Given the description of an element on the screen output the (x, y) to click on. 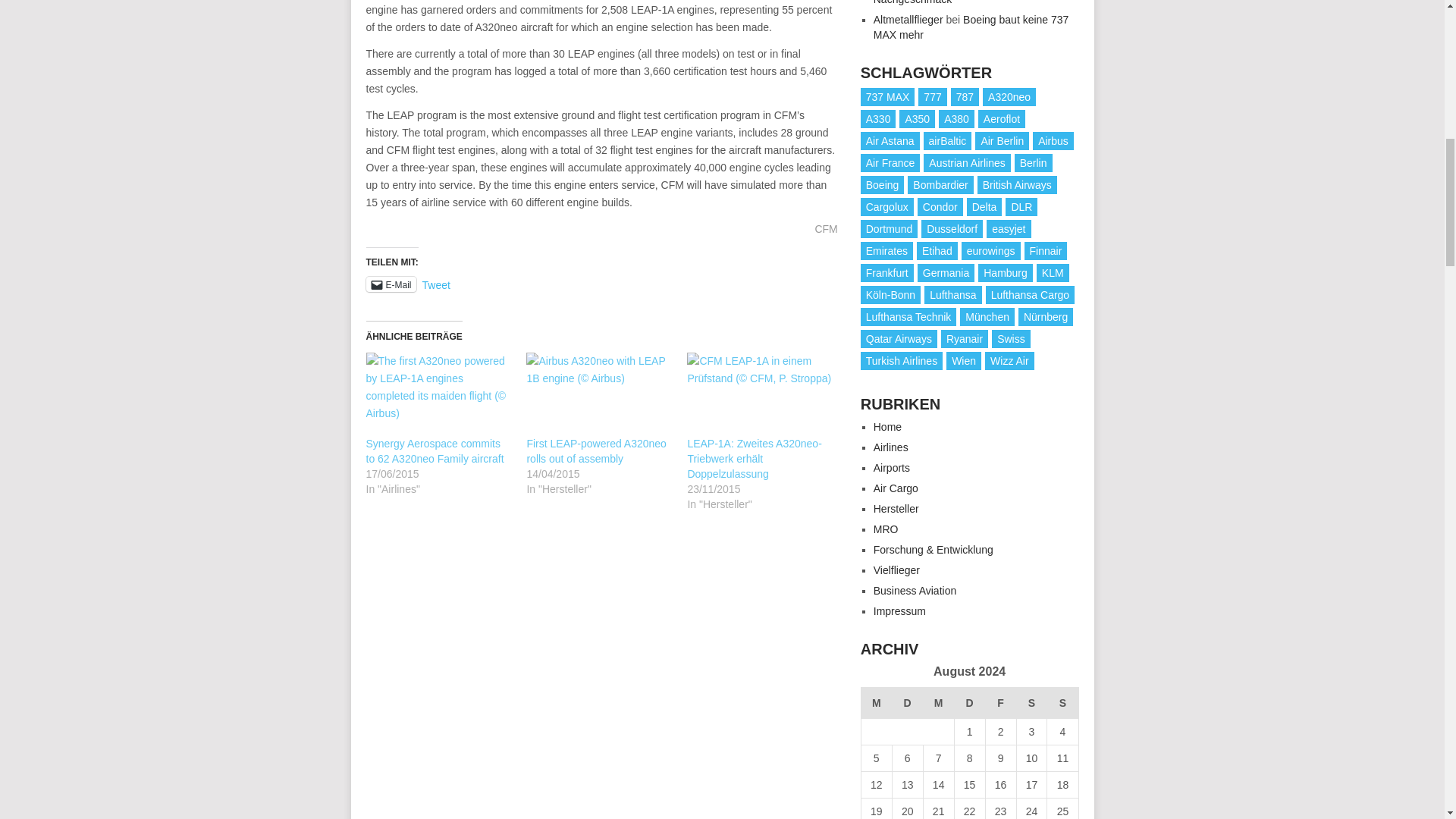
Synergy Aerospace commits to 62 A320neo Family aircraft (438, 393)
Freitag (1000, 702)
Altmetallflieger (908, 19)
First LEAP-powered A320neo rolls out of assembly (595, 451)
Mittwoch (938, 702)
Bitterer Nachgeschmack (935, 2)
Montag (875, 702)
Donnerstag (969, 702)
Tweet (435, 283)
Klicken, um einem Freund einen Link per E-Mail zu senden (389, 283)
E-Mail (389, 283)
First LEAP-powered A320neo rolls out of assembly (595, 451)
Synergy Aerospace commits to 62 A320neo Family aircraft (434, 451)
Samstag (1031, 702)
Synergy Aerospace commits to 62 A320neo Family aircraft (434, 451)
